Given the description of an element on the screen output the (x, y) to click on. 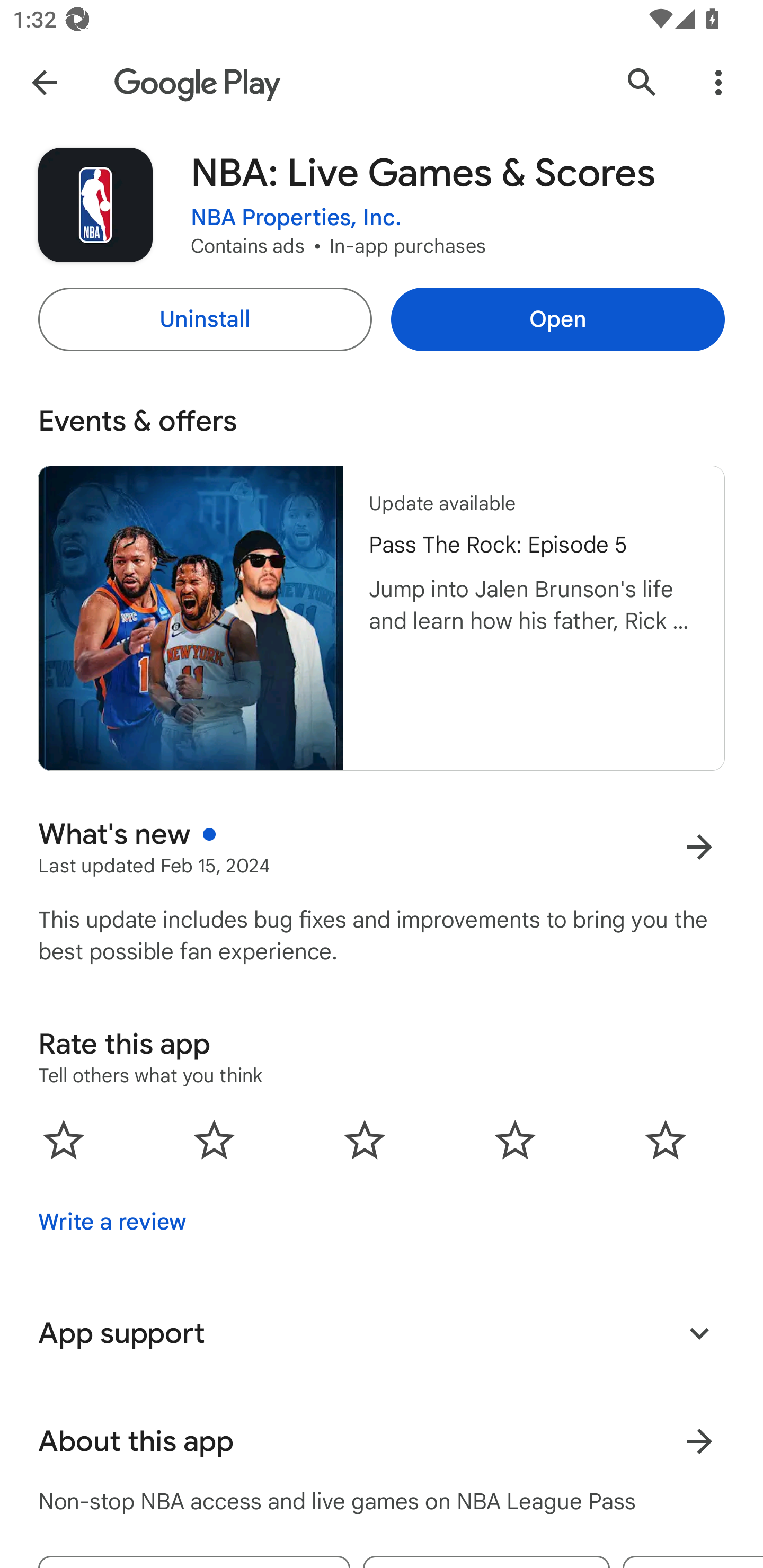
Navigate up (44, 81)
Search Google Play (642, 81)
More Options (718, 81)
NBA Properties, Inc. (295, 217)
Uninstall (205, 318)
Open (557, 318)
More results for What's new (699, 847)
0.0 (364, 1138)
Write a review (112, 1221)
App support Expand (381, 1333)
Expand (699, 1333)
About this app Learn more About this app (381, 1441)
Learn more About this app (699, 1441)
